Given the description of an element on the screen output the (x, y) to click on. 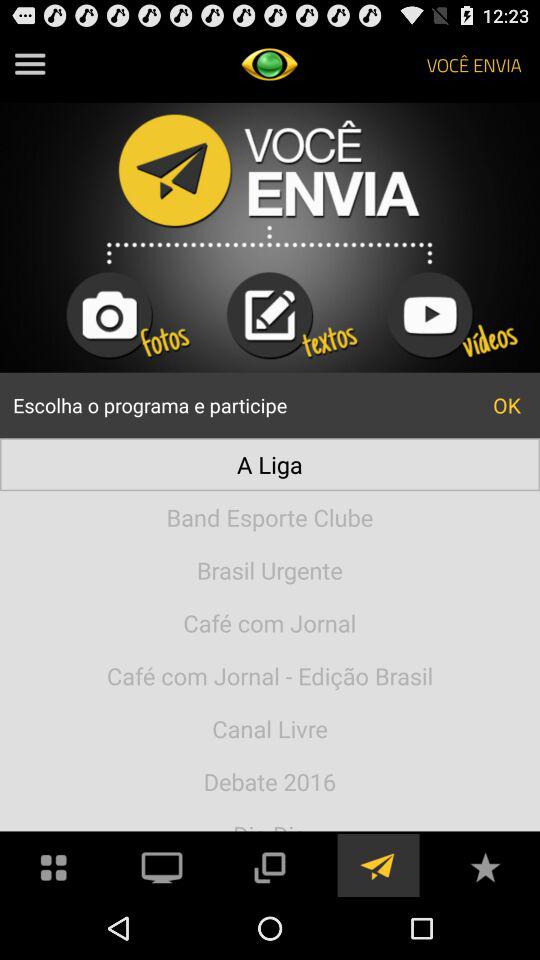
location preferences (377, 865)
